Given the description of an element on the screen output the (x, y) to click on. 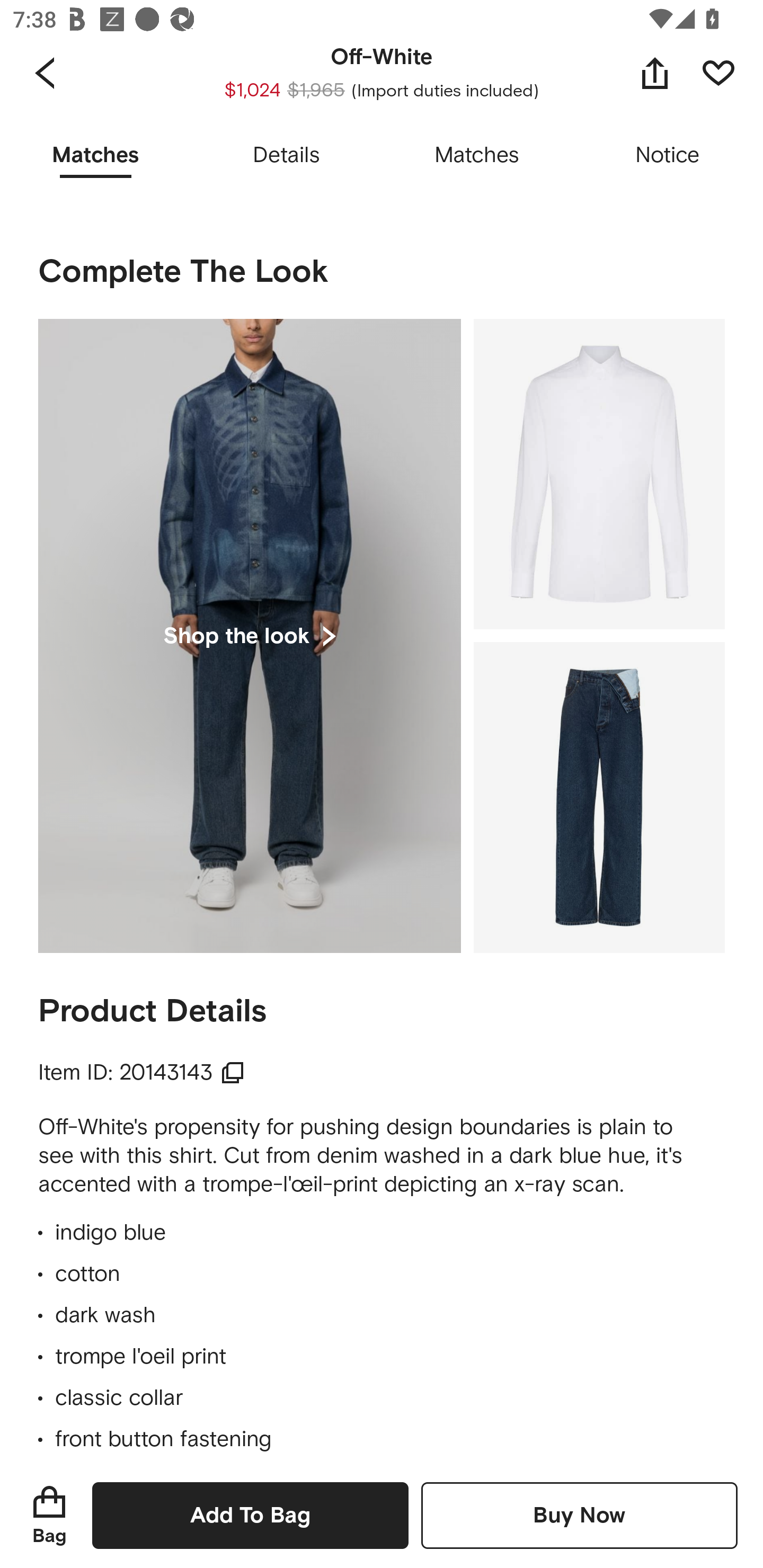
Select 2 size(s) available (349, 83)
Details (285, 155)
Matches (476, 155)
Notice (667, 155)
Item ID: 20143143 (141, 1073)
Bag (49, 1515)
Add To Bag (250, 1515)
Buy Now (579, 1515)
